Given the description of an element on the screen output the (x, y) to click on. 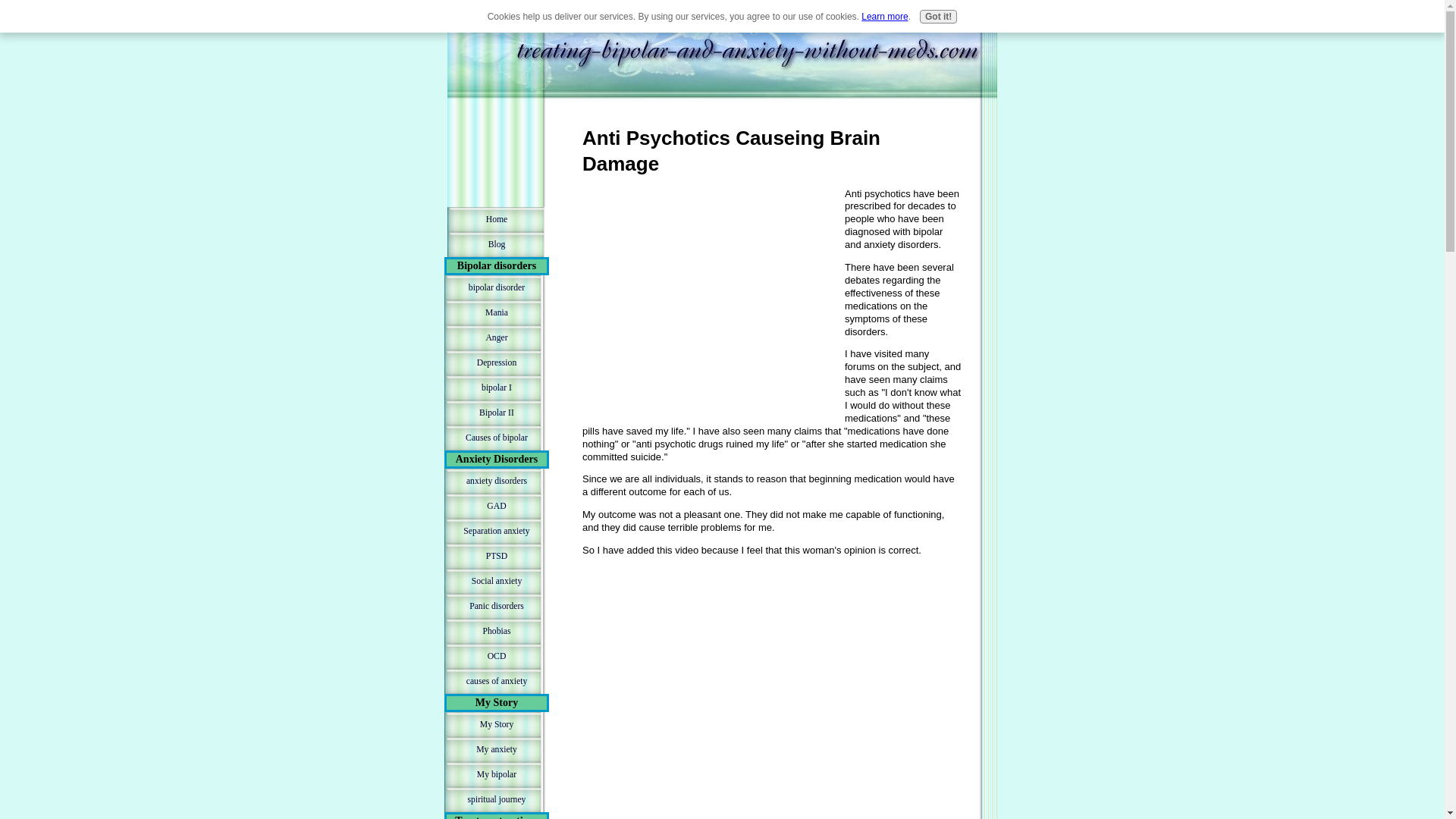
Advertisement (495, 160)
Home (496, 219)
Advertisement (709, 294)
My Story (496, 724)
Panic disorders (496, 606)
bipolar I (496, 387)
My anxiety (496, 749)
Depression (496, 362)
Separation anxiety (496, 530)
PTSD (496, 555)
